Given the description of an element on the screen output the (x, y) to click on. 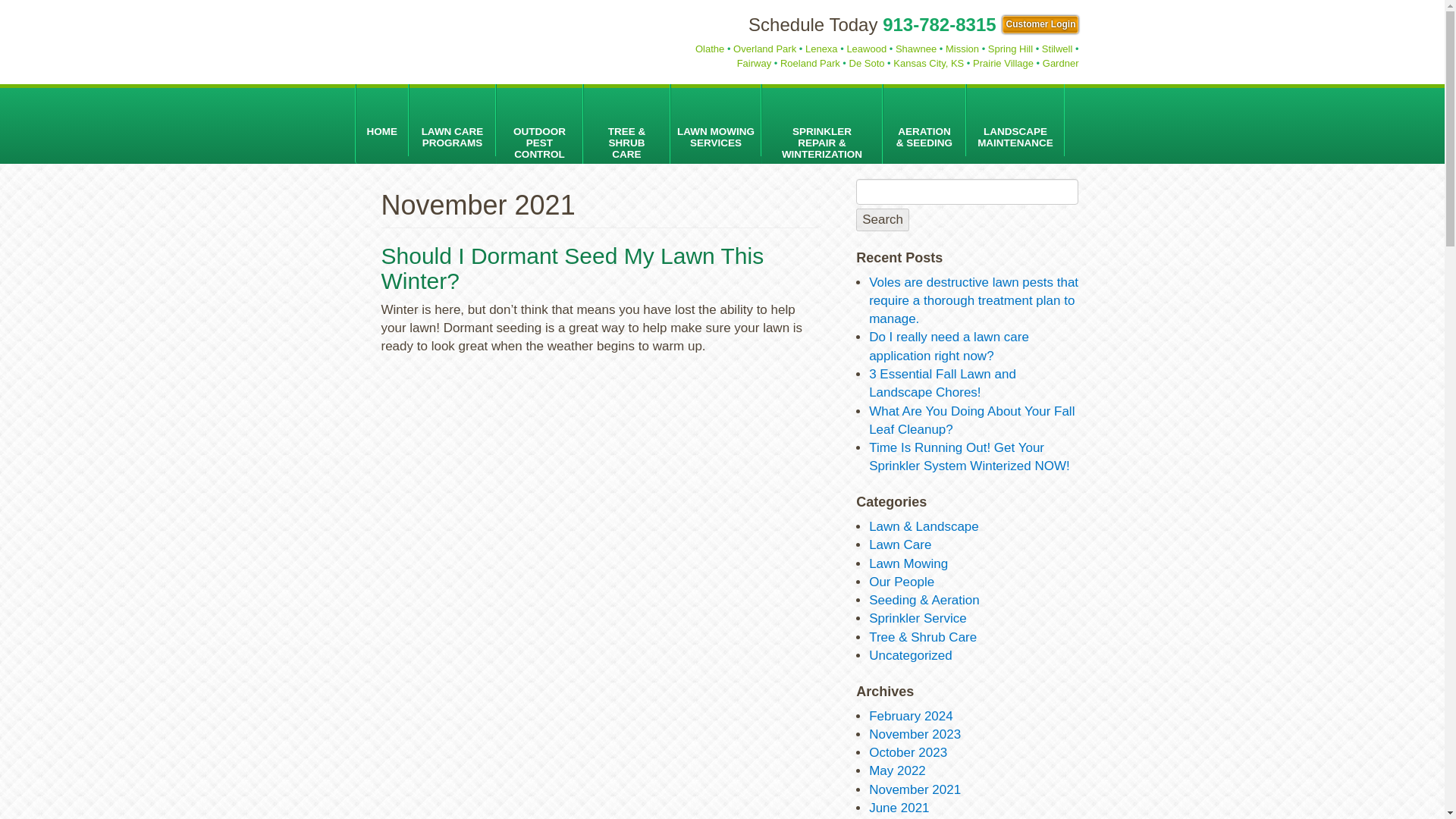
LAWN MOWING SERVICES (715, 120)
Fairway (753, 62)
Permalink to Should I Dormant Seed My Lawn This Winter? (571, 268)
Shawnee (915, 48)
Search (882, 219)
3 Essential Fall Lawn and Landscape Chores! (942, 382)
Mission (961, 48)
Custom Lawn (488, 42)
Olathe (709, 48)
Kansas City, KS (928, 62)
Customer Login (1040, 24)
Lawn Mowing (908, 563)
Gardner (1060, 62)
Do I really need a lawn care application right now? (949, 346)
